Given the description of an element on the screen output the (x, y) to click on. 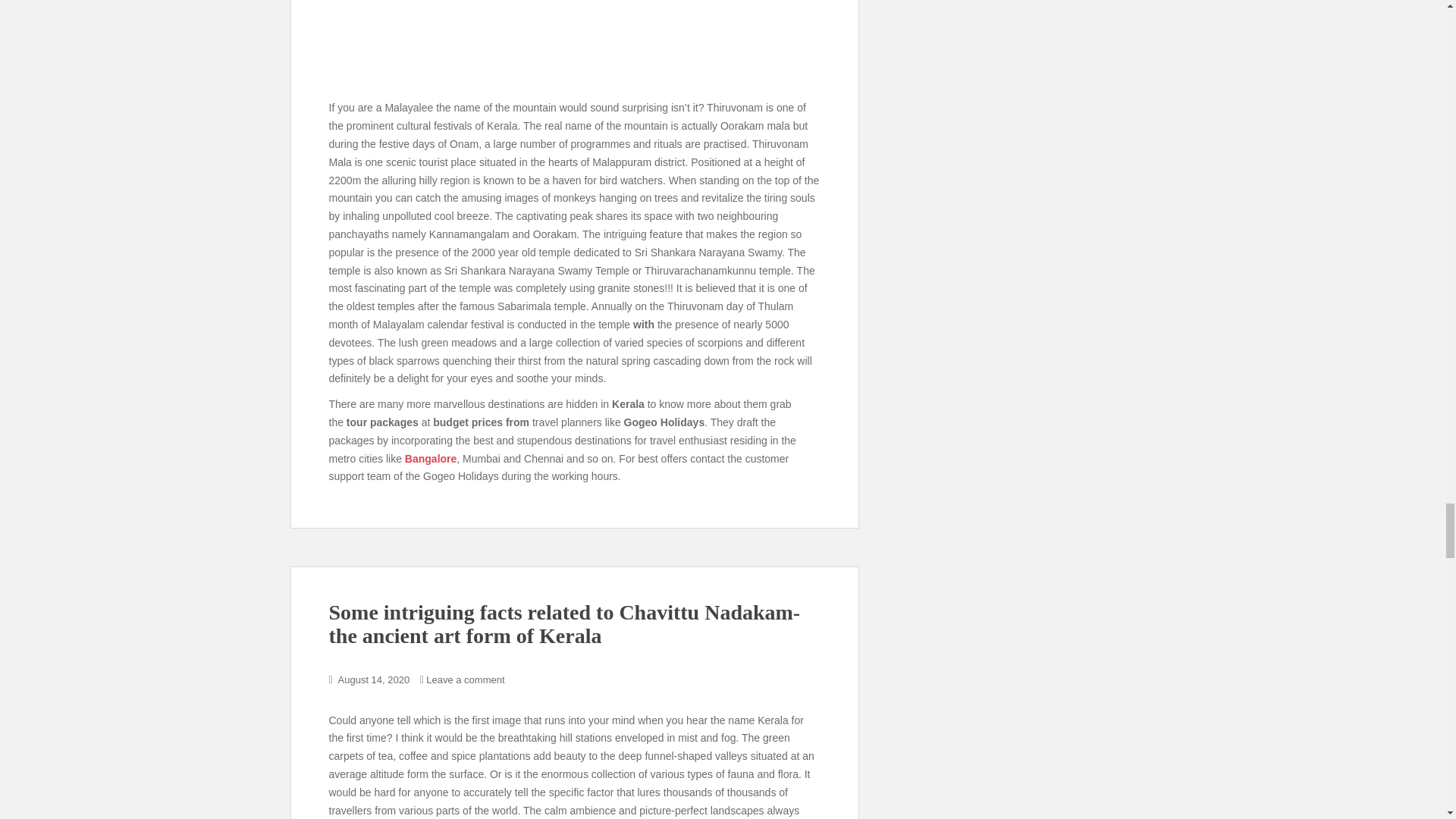
Bangalore (430, 458)
August 14, 2020 (373, 679)
Leave a comment (464, 679)
Thiruvonam mala (575, 45)
